Given the description of an element on the screen output the (x, y) to click on. 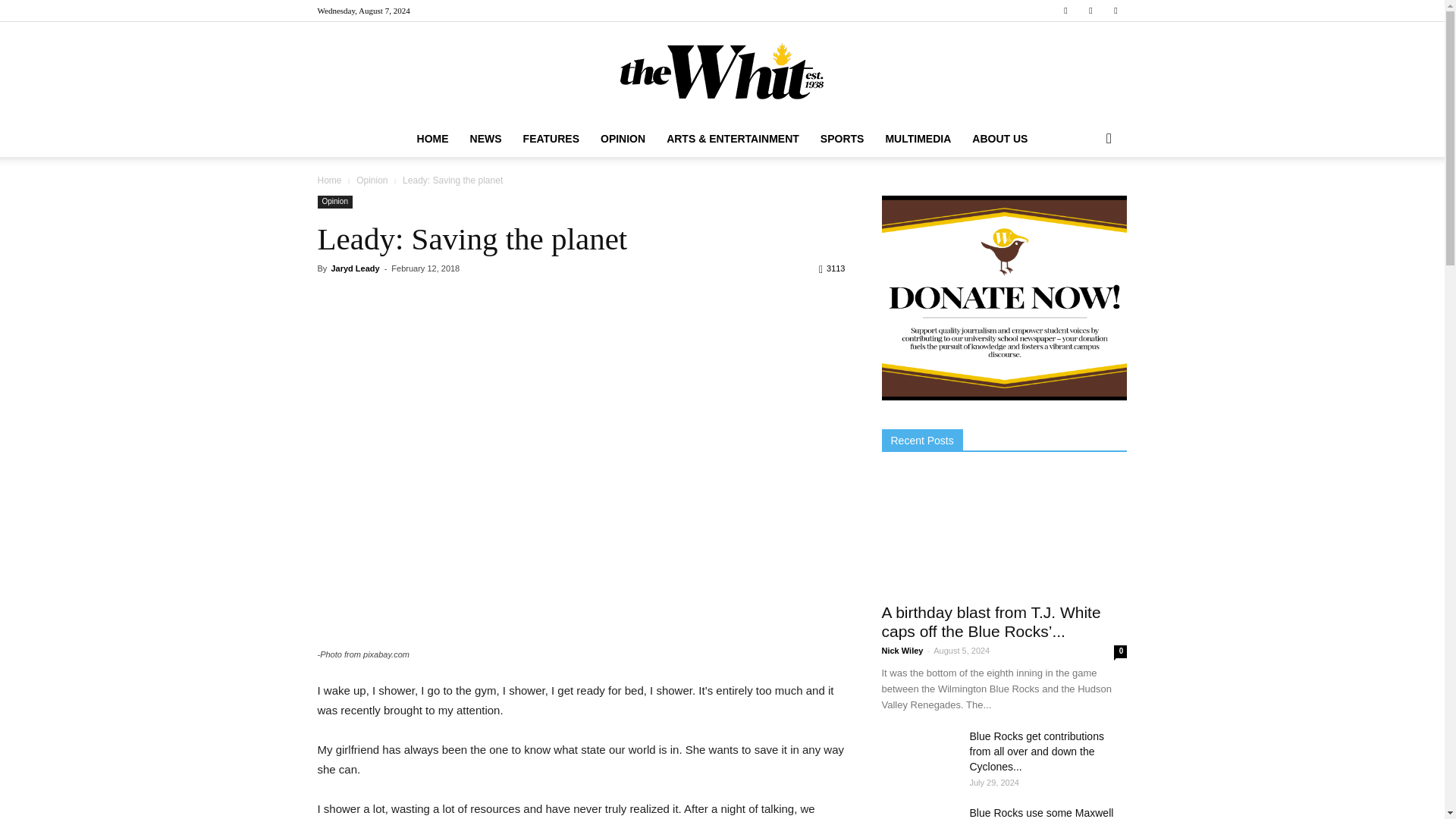
Instagram (1090, 10)
Facebook (1065, 10)
Twitter (1114, 10)
View all posts in Opinion (373, 180)
